Given the description of an element on the screen output the (x, y) to click on. 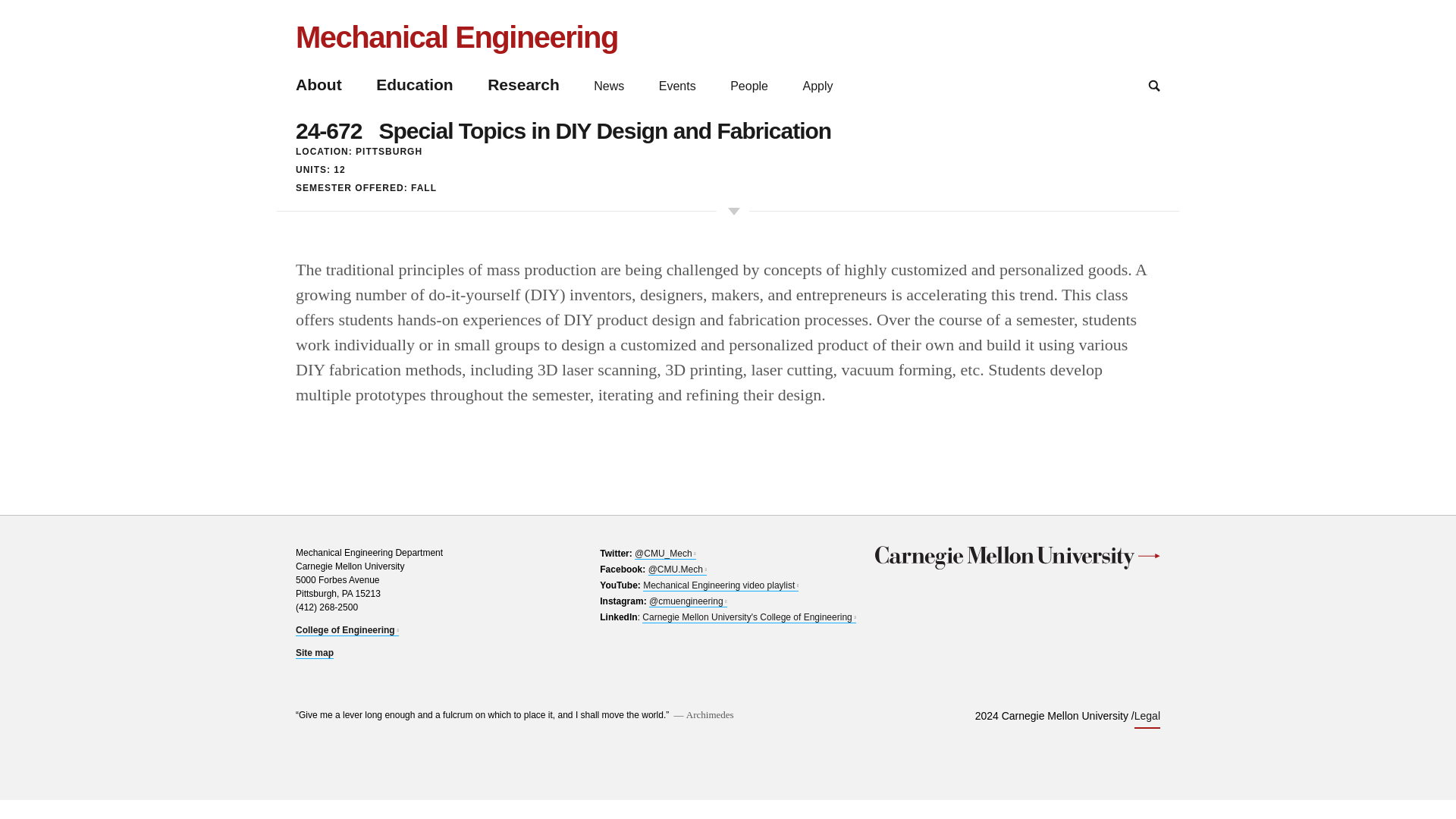
Search (1154, 85)
Research (523, 84)
Education (413, 84)
Legal (1147, 717)
Mechanical Engineering (456, 36)
About (318, 84)
News (609, 85)
Events (677, 85)
Search (1154, 85)
Site map (314, 653)
People (749, 85)
Apply (346, 630)
